Given the description of an element on the screen output the (x, y) to click on. 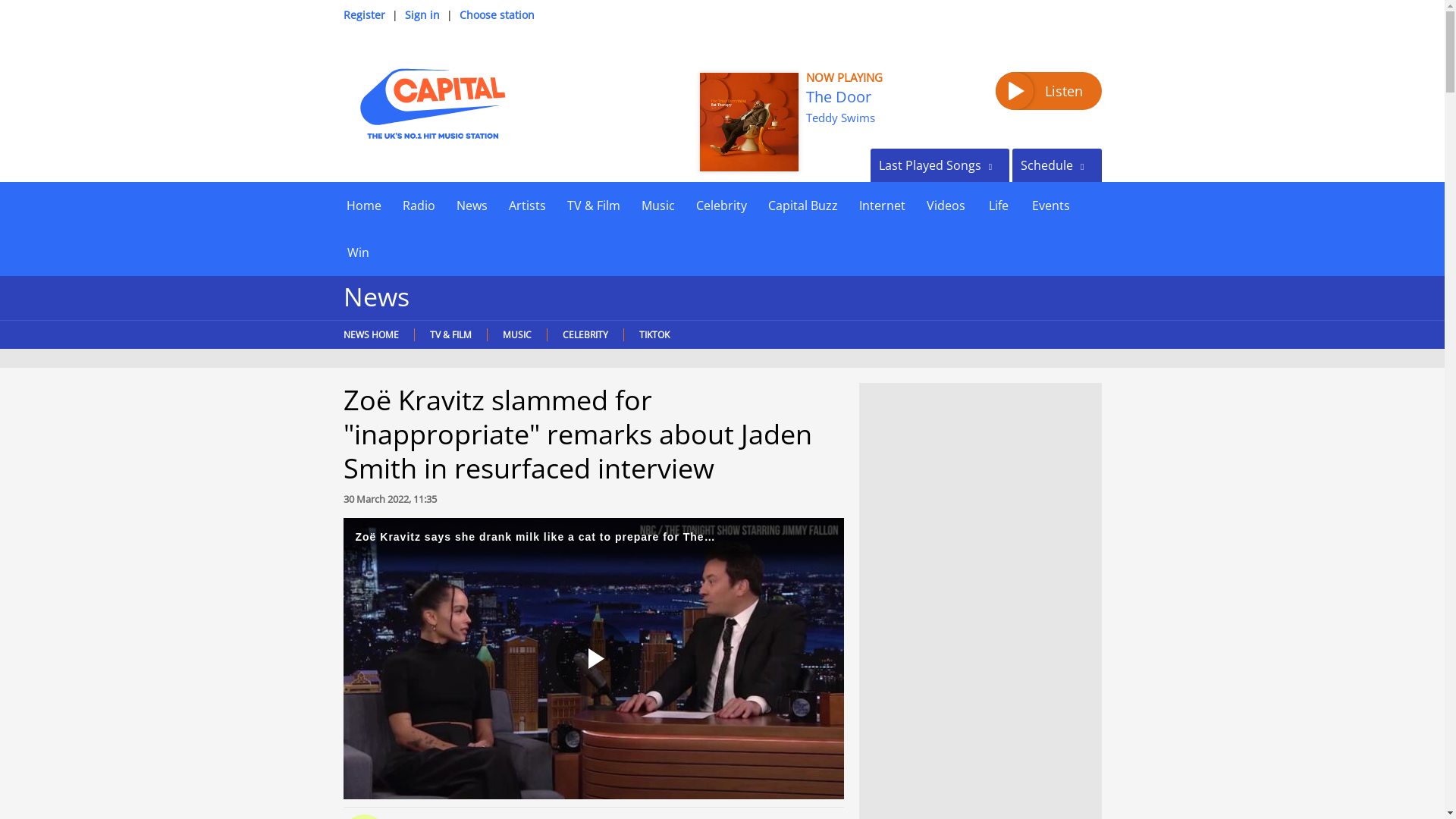
Life (997, 205)
Videos (945, 205)
Music (657, 205)
NEWS HOME (373, 334)
TIKTOK (653, 334)
Register (363, 14)
Capital (431, 103)
News (471, 205)
Sign in (421, 14)
Artists (526, 205)
Celebrity (721, 205)
CELEBRITY (584, 334)
Schedule (1055, 164)
MUSIC (516, 334)
Events (1050, 205)
